Given the description of an element on the screen output the (x, y) to click on. 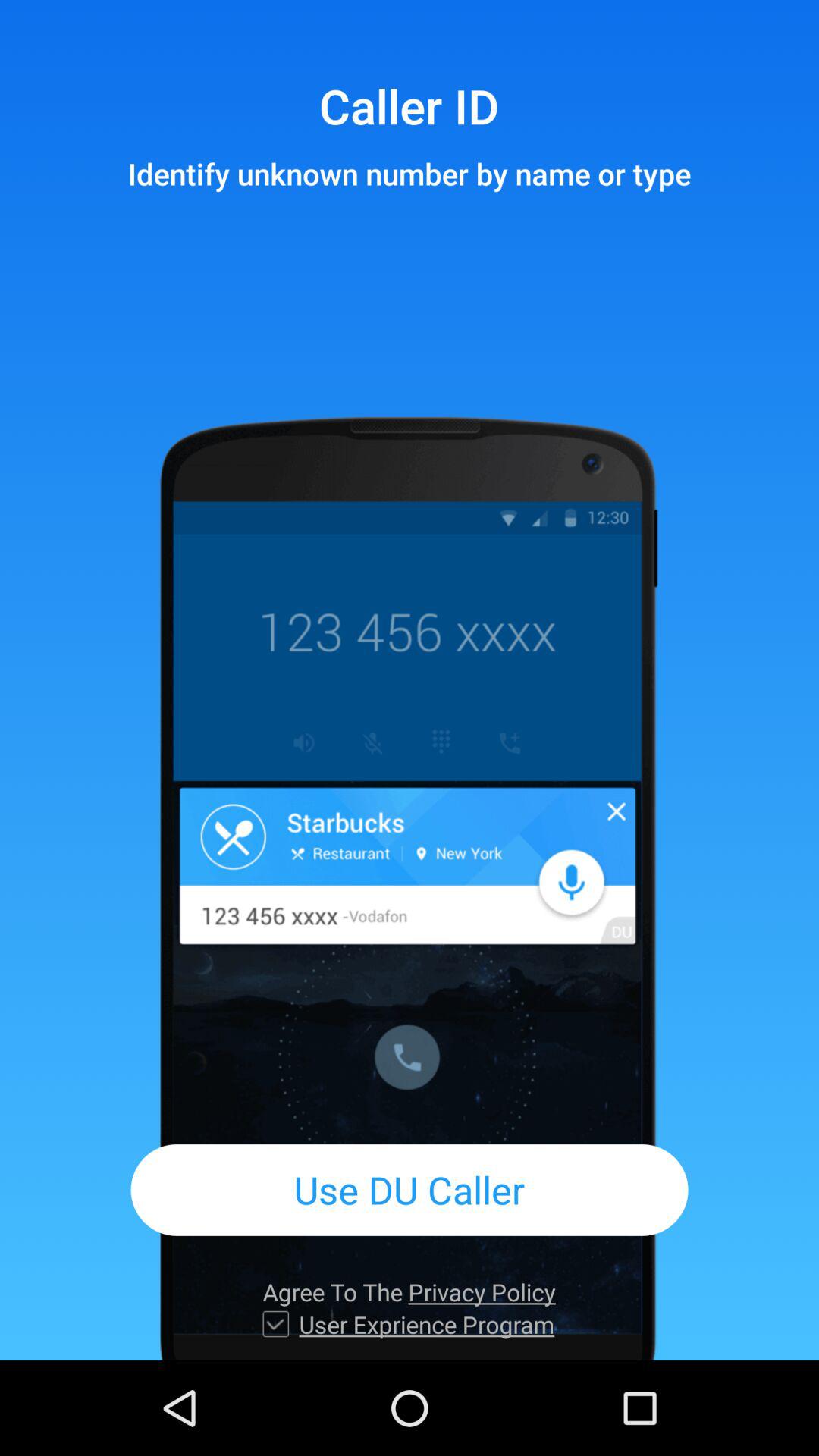
turn off the item below use du caller (408, 1291)
